Given the description of an element on the screen output the (x, y) to click on. 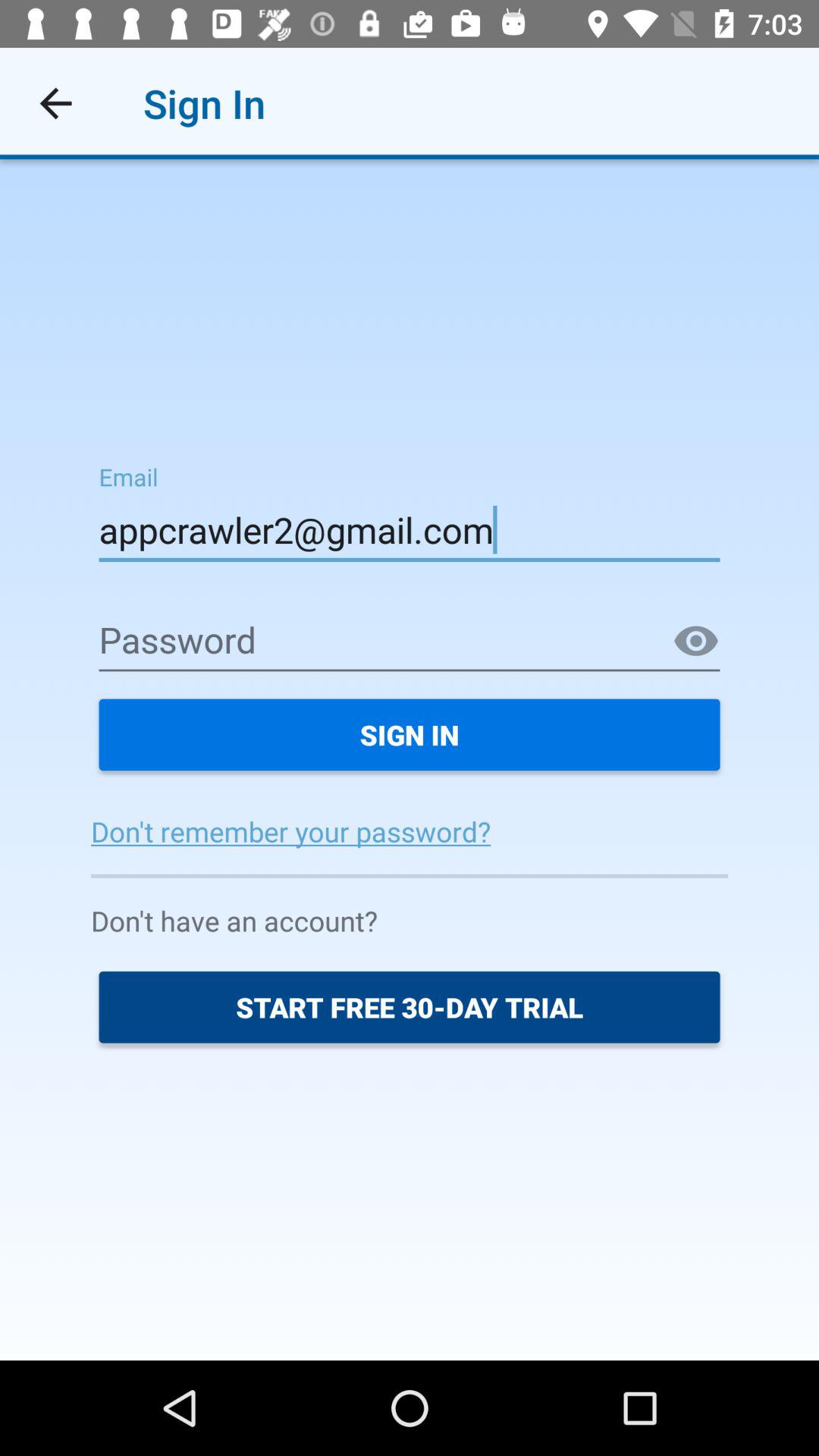
fill password (409, 642)
